Given the description of an element on the screen output the (x, y) to click on. 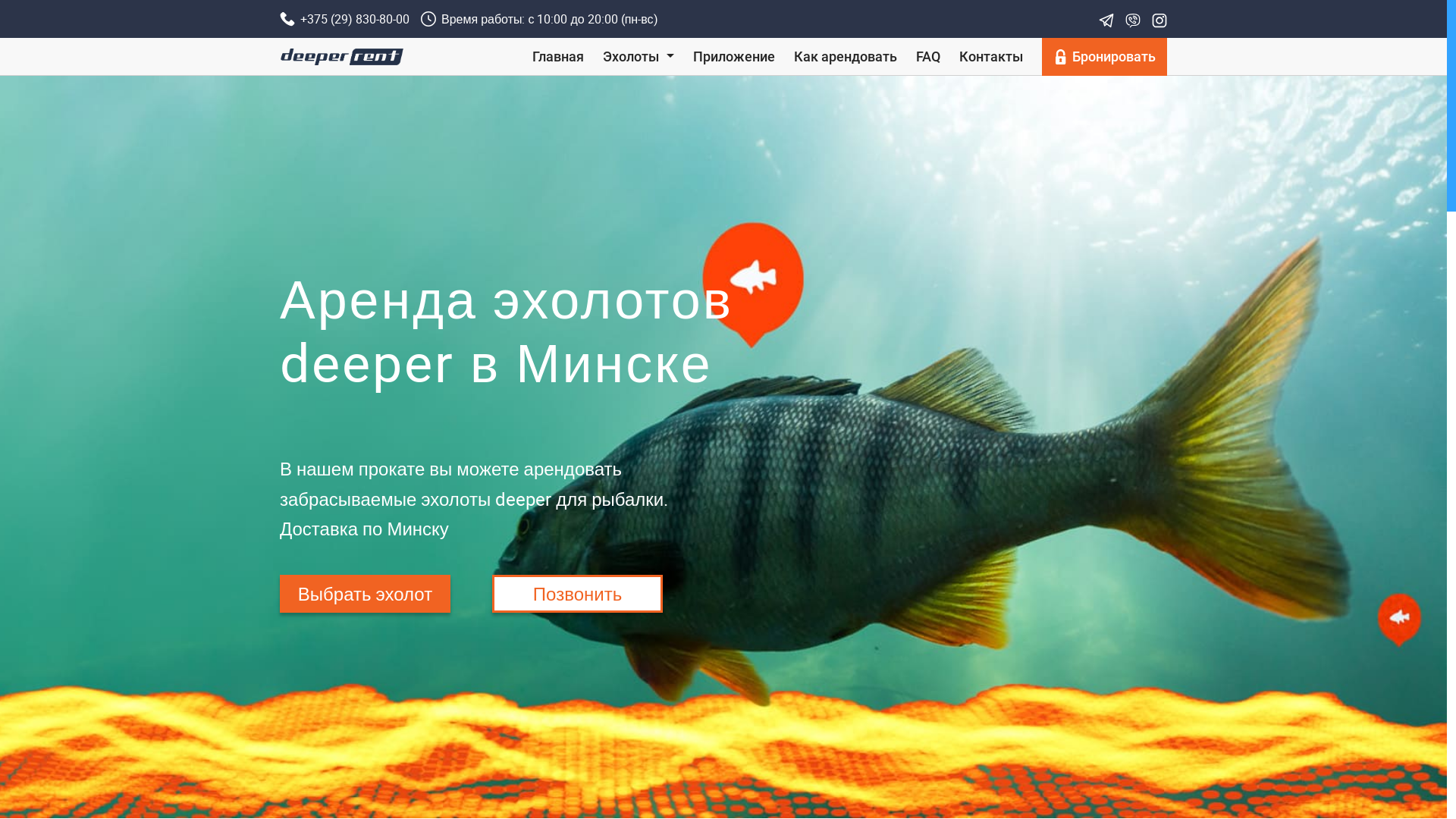
FAQ Element type: text (928, 56)
+375 (29) 830-80-00 Element type: text (344, 18)
